Given the description of an element on the screen output the (x, y) to click on. 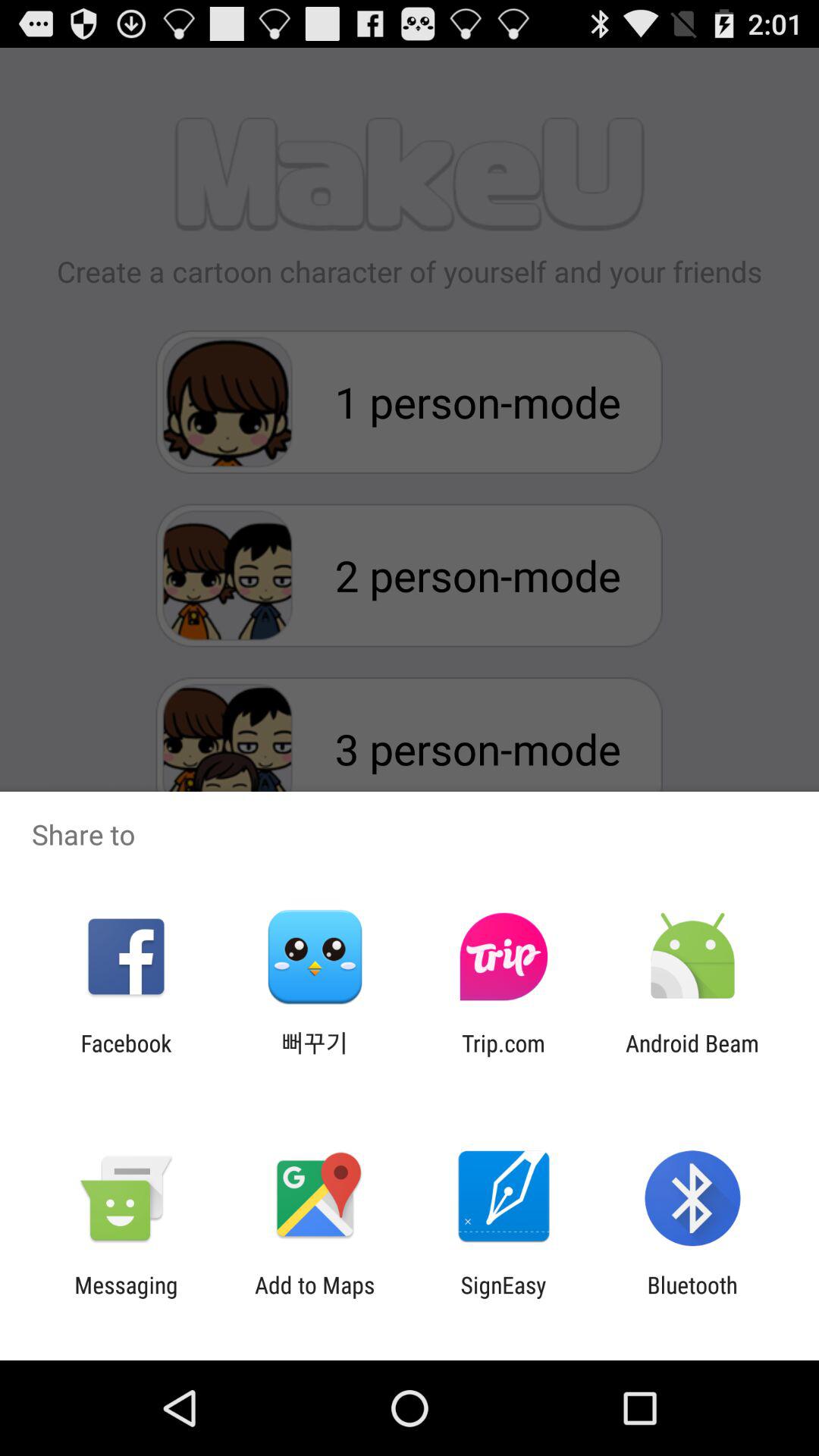
select facebook icon (125, 1056)
